Given the description of an element on the screen output the (x, y) to click on. 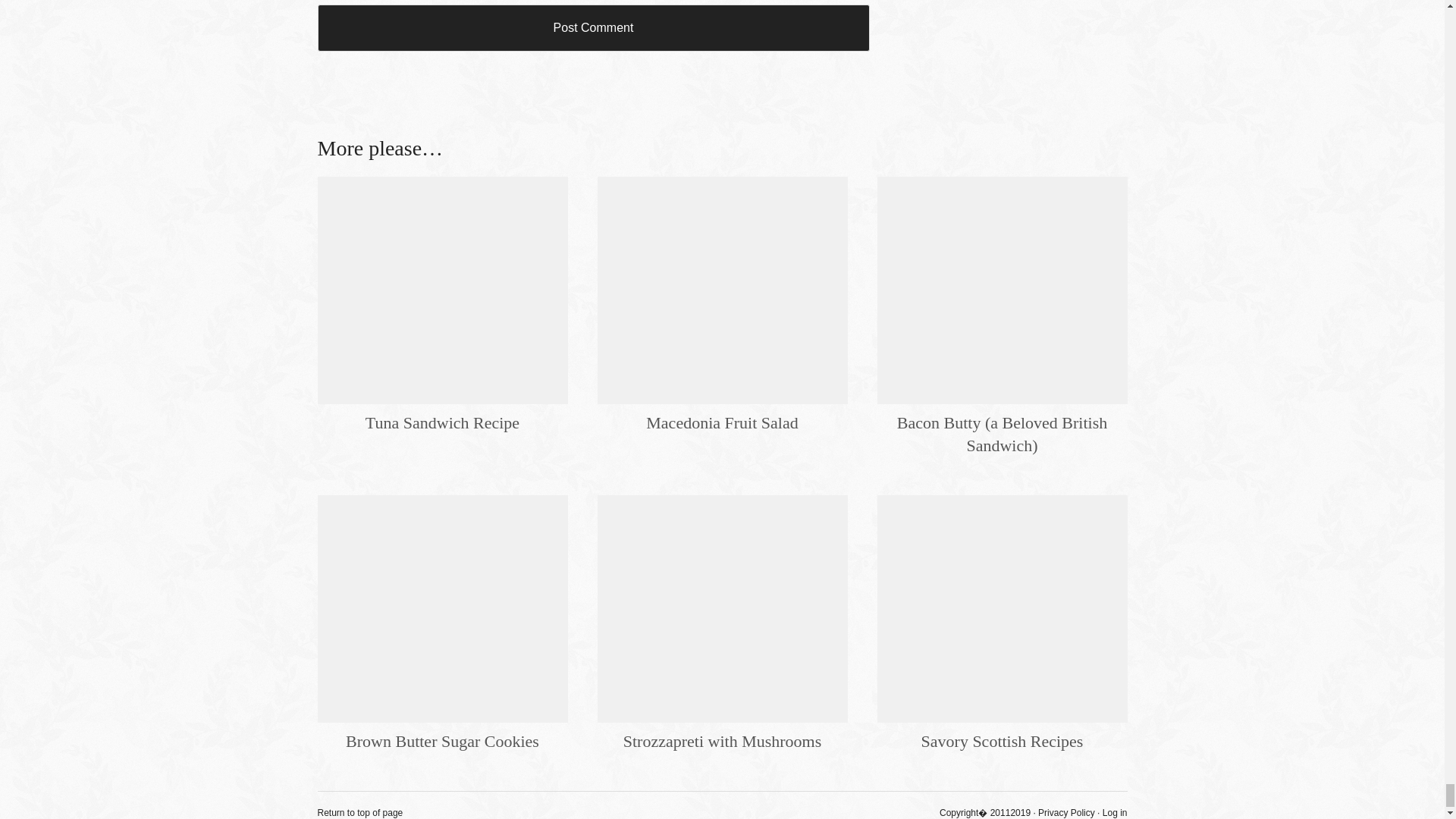
Post Comment (593, 27)
